Given the description of an element on the screen output the (x, y) to click on. 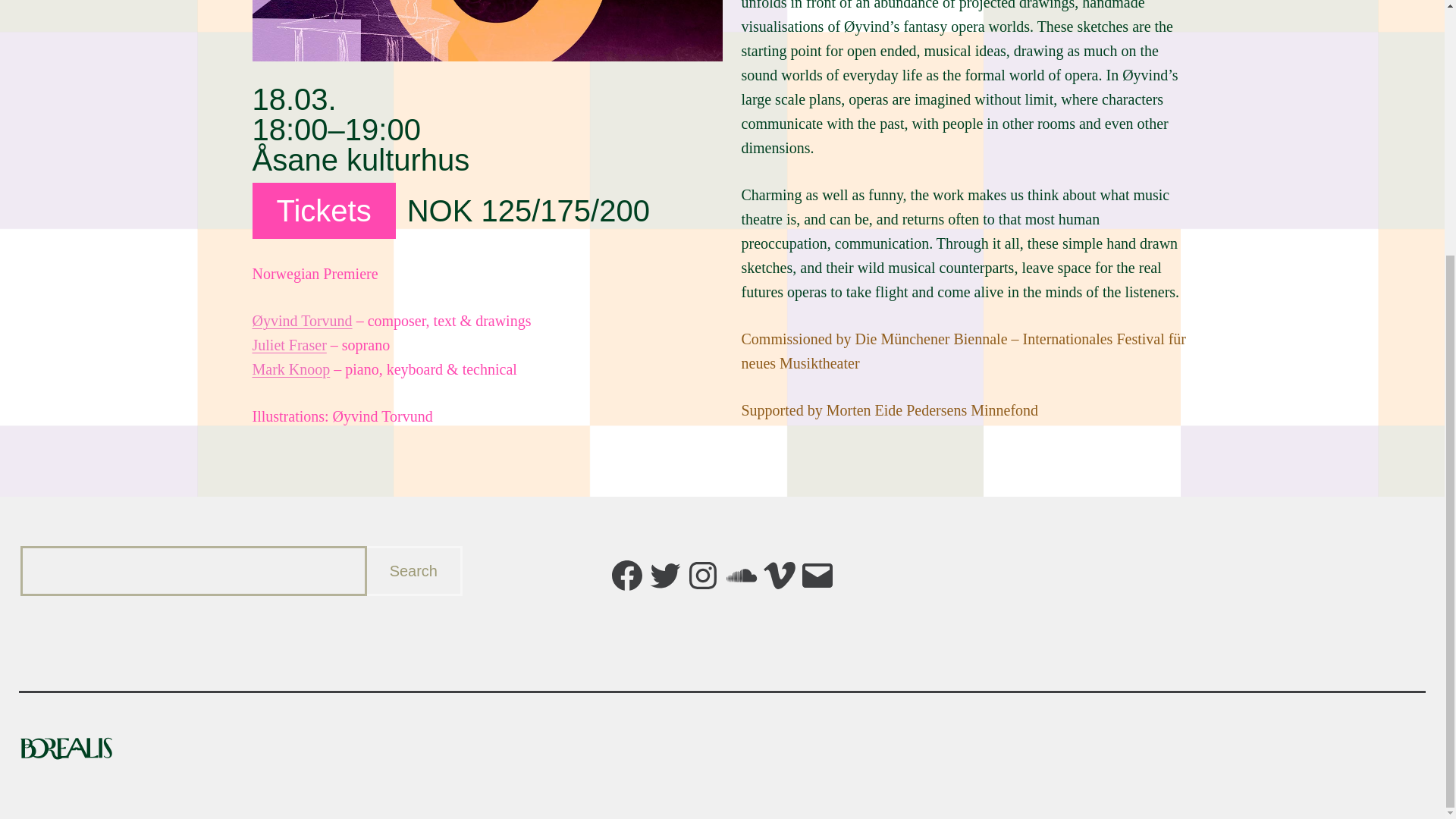
Search (414, 571)
Search (414, 571)
